Given the description of an element on the screen output the (x, y) to click on. 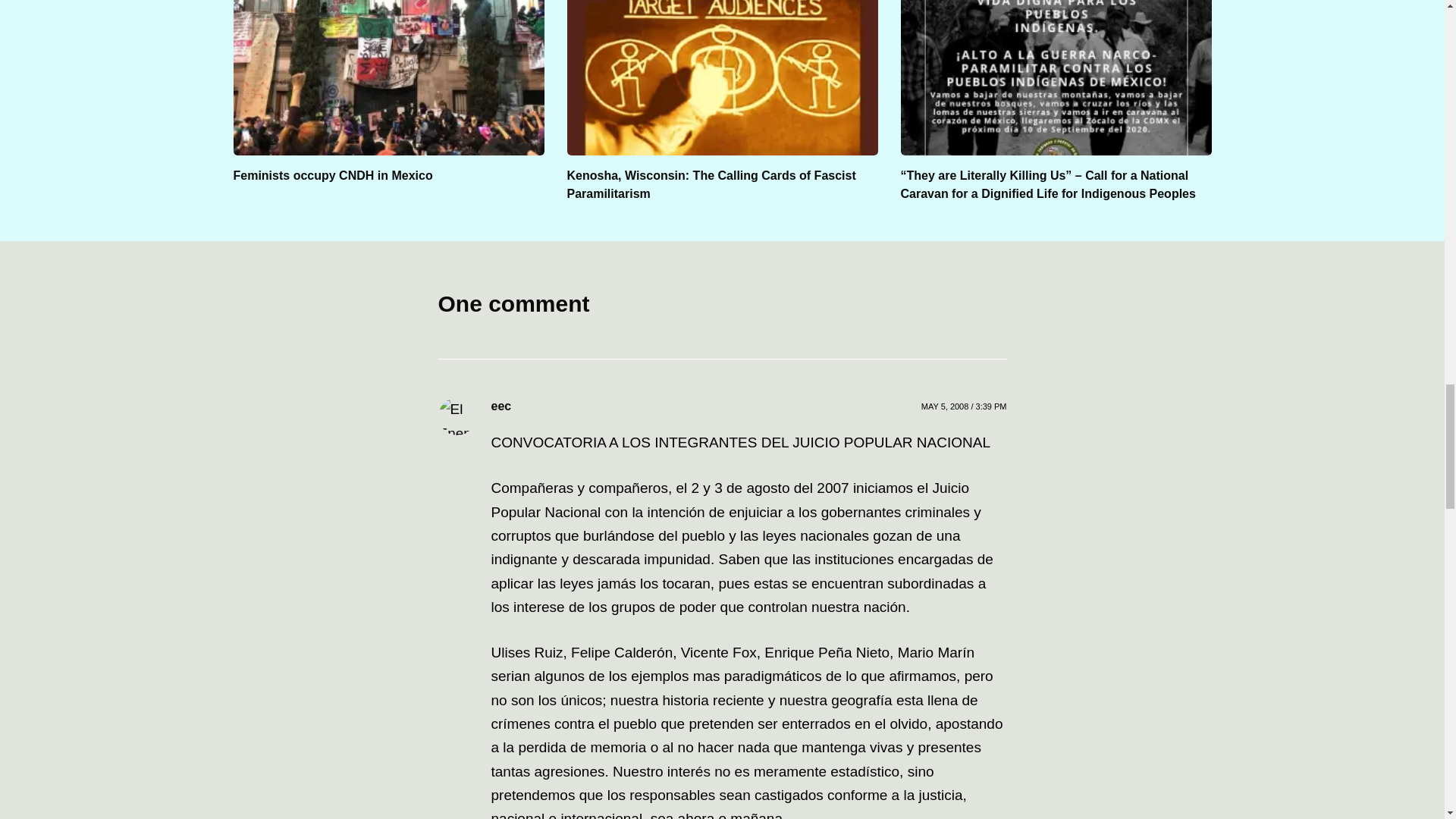
Feminists occupy CNDH in Mexico (332, 174)
